Given the description of an element on the screen output the (x, y) to click on. 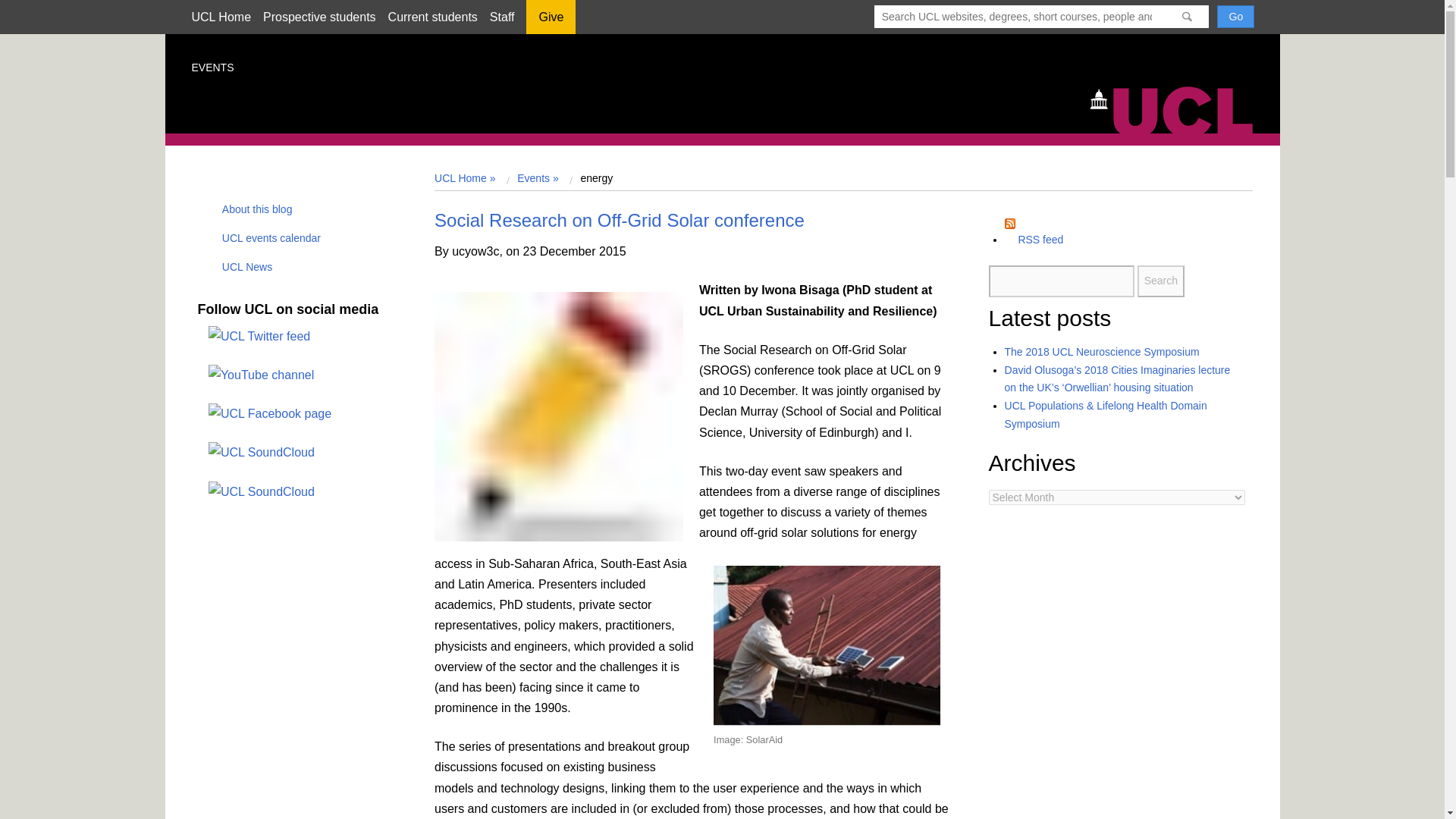
Give (550, 22)
Go (1235, 15)
UCL Home (220, 16)
UCL events calendar (266, 237)
Current students (432, 16)
UCL SoundCloud (261, 452)
Prospective students (319, 16)
UCL Facebook page (269, 413)
UCL News (242, 266)
Flickr icon (255, 491)
Staff (502, 16)
Go (1235, 15)
UCL Flickr channel (261, 491)
Home (1178, 108)
